Given the description of an element on the screen output the (x, y) to click on. 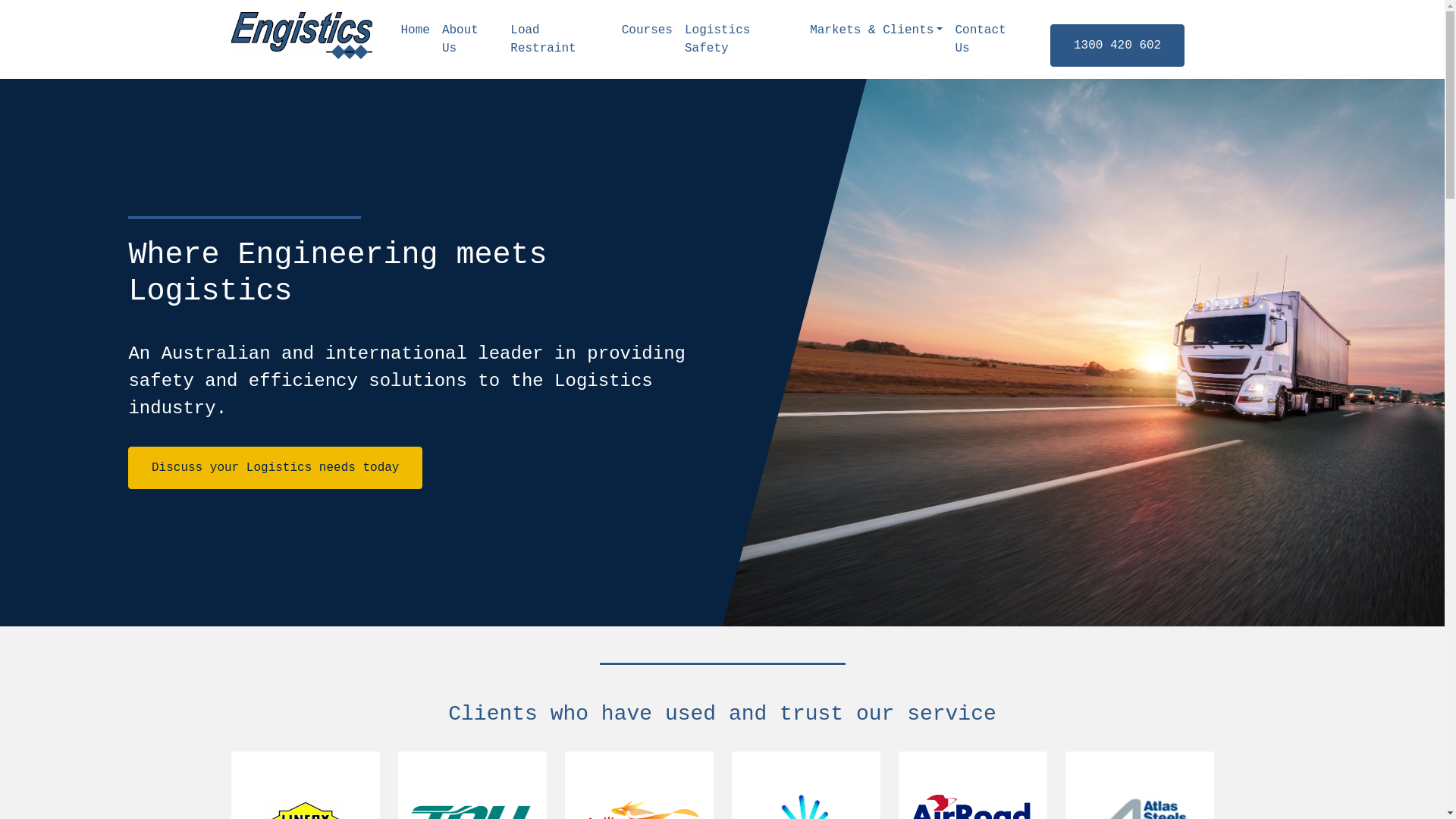
Home Element type: text (414, 30)
Logistics Safety Element type: text (740, 39)
Markets & Clients Element type: text (875, 30)
About Us Element type: text (470, 39)
Discuss your Logistics needs today Element type: text (275, 467)
Contact Us Element type: text (989, 39)
Courses Element type: text (646, 30)
1300 420 602 Element type: text (1116, 45)
Load Restraint Element type: text (559, 39)
